Given the description of an element on the screen output the (x, y) to click on. 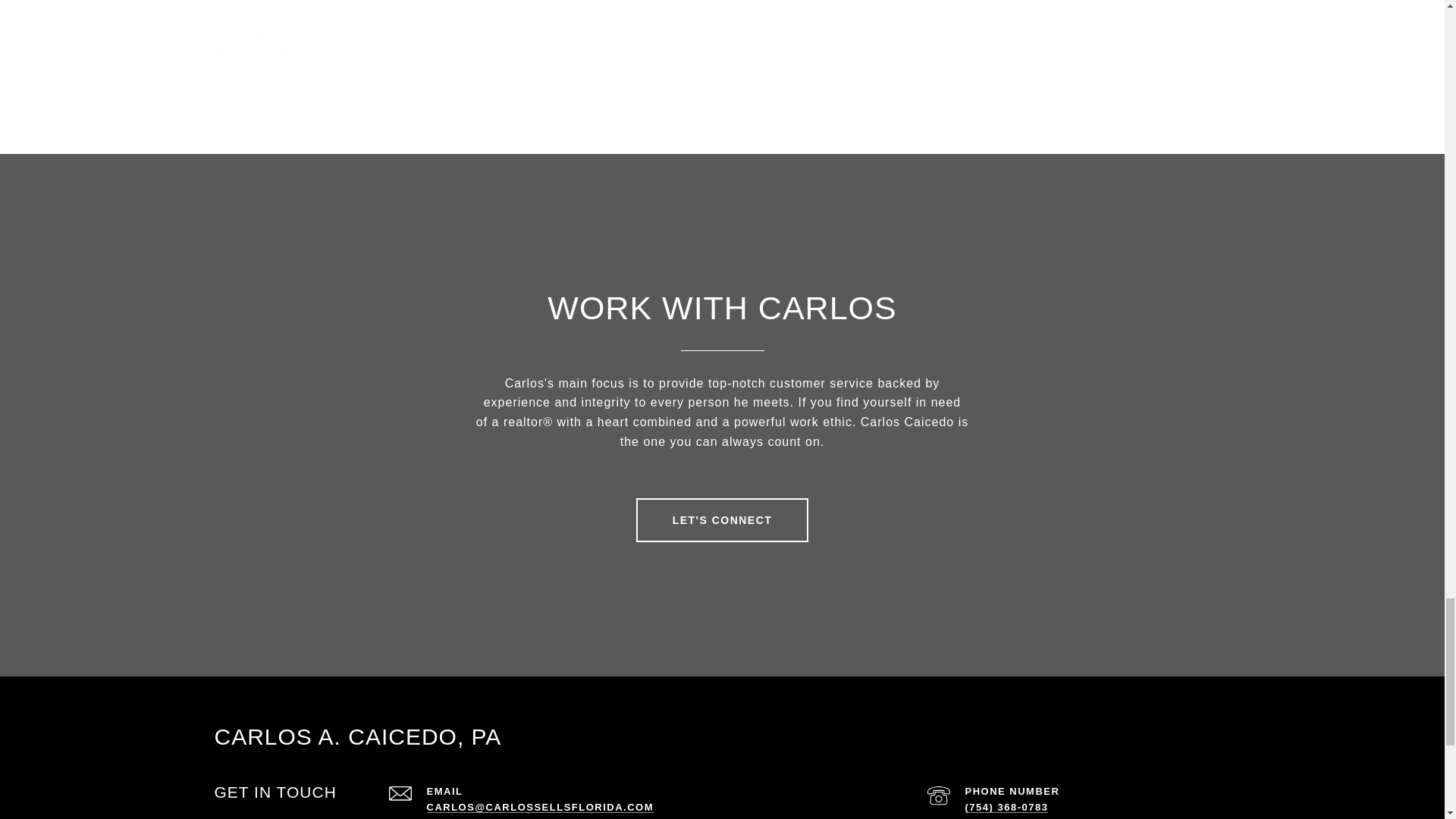
LET'S CONNECT (722, 519)
